Given the description of an element on the screen output the (x, y) to click on. 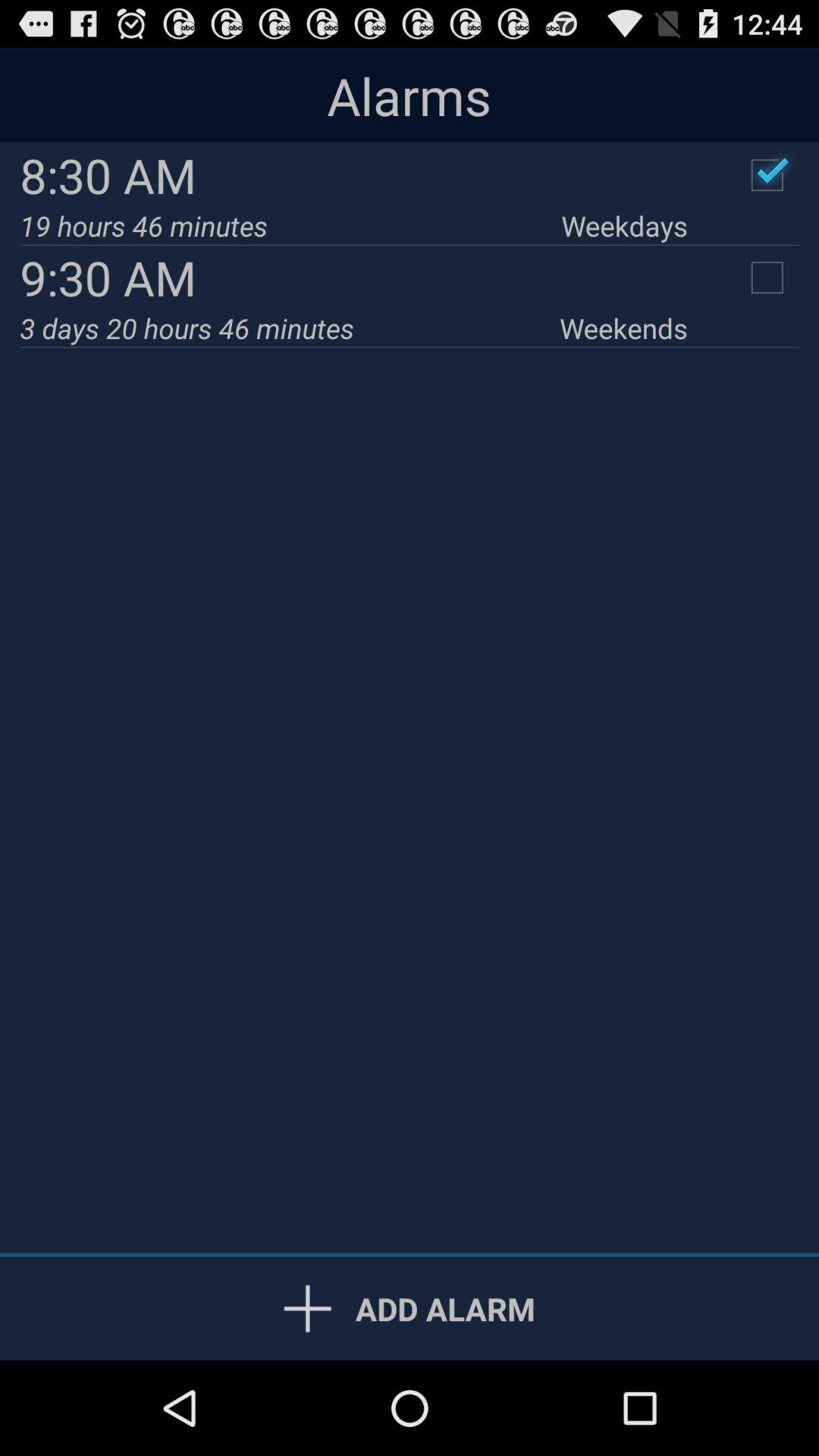
open the app to the right of 3 days 20 icon (623, 327)
